Given the description of an element on the screen output the (x, y) to click on. 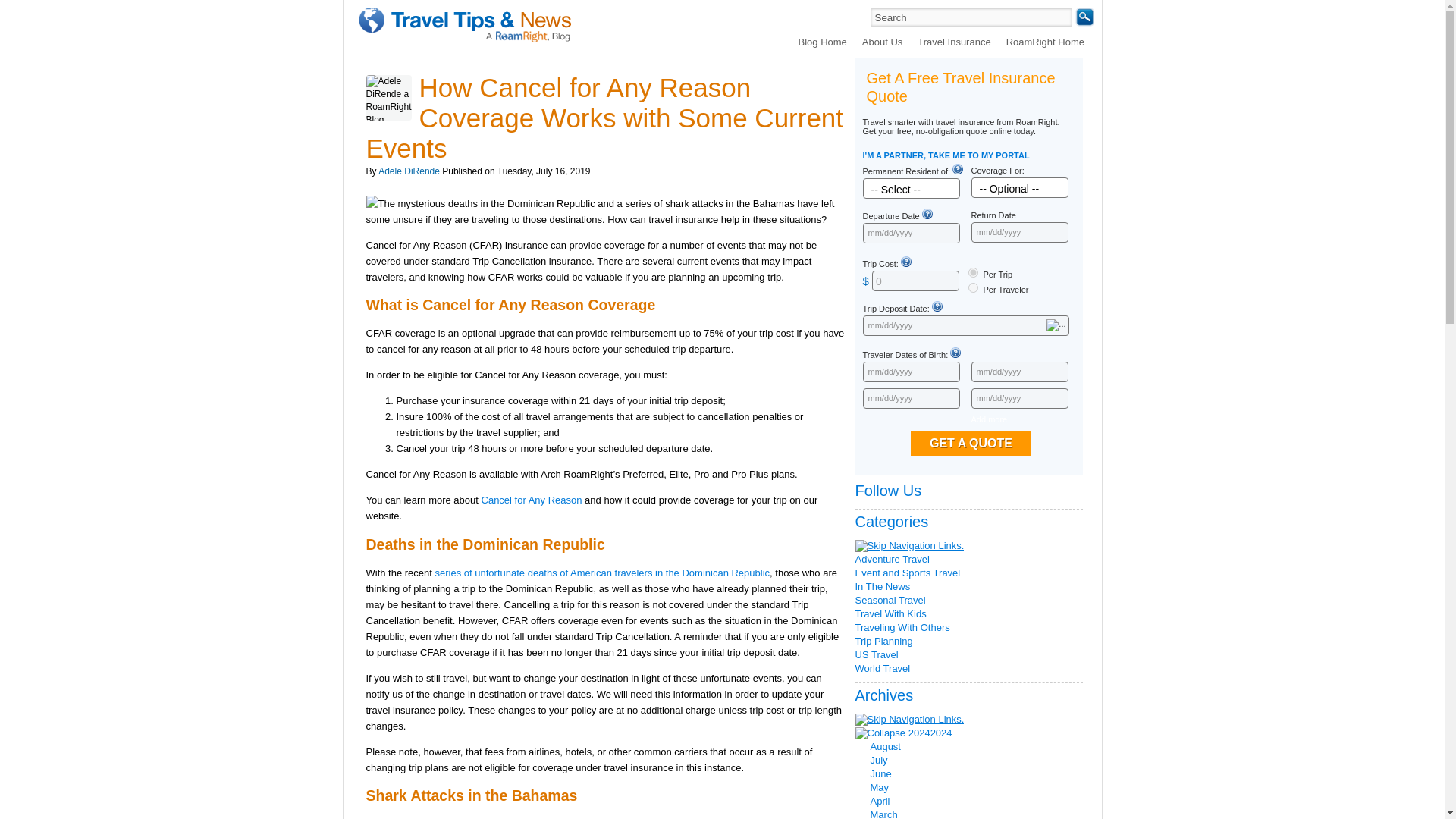
0 (972, 272)
Cancel for Any Reason Travel Insurance (531, 500)
Blog Home (821, 41)
0 (915, 281)
Cancel for Any Reason (531, 500)
About Us (881, 41)
-- Select -- (927, 188)
